Given the description of an element on the screen output the (x, y) to click on. 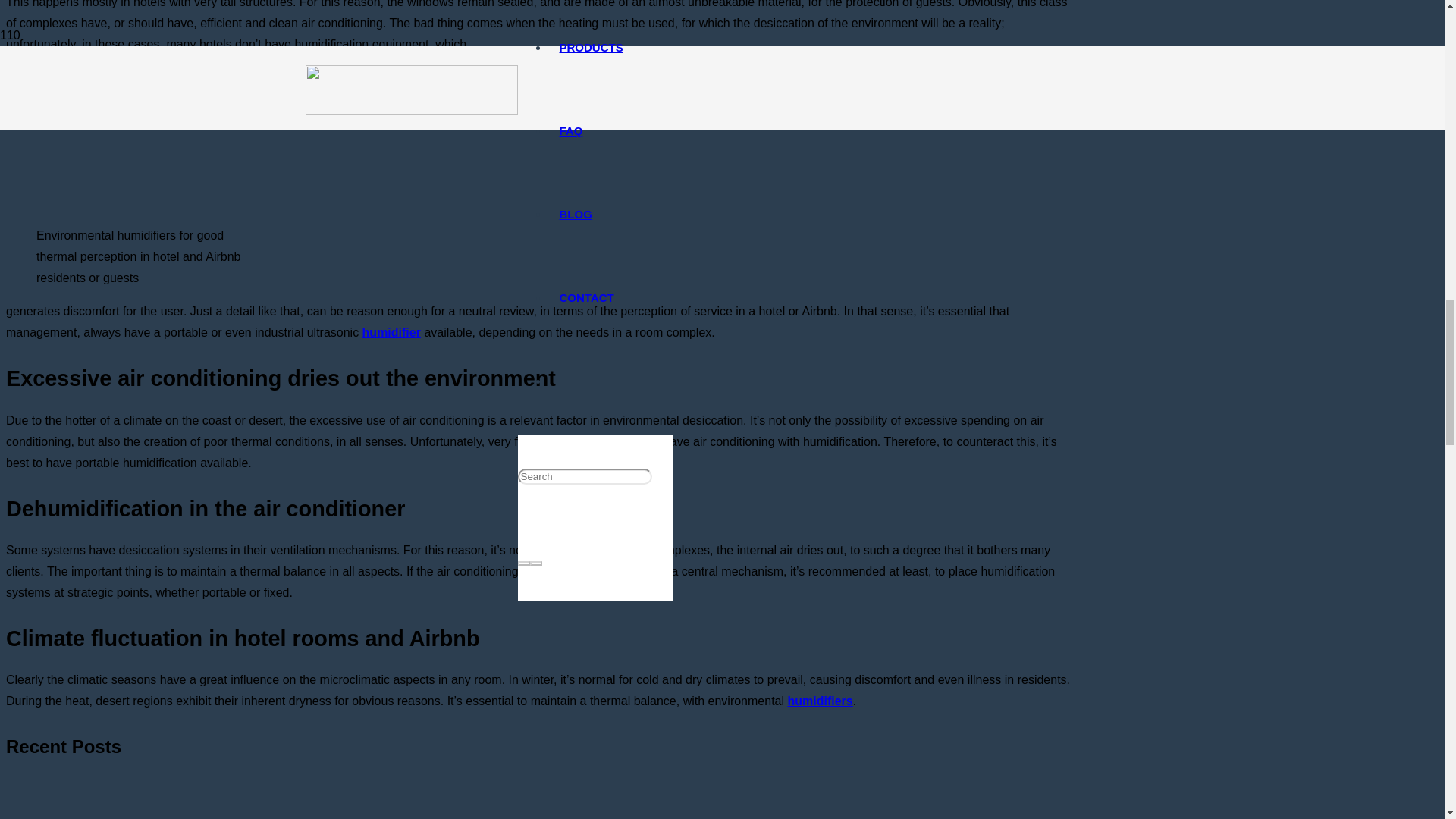
humidifier (391, 332)
humidifiers (819, 700)
